Given the description of an element on the screen output the (x, y) to click on. 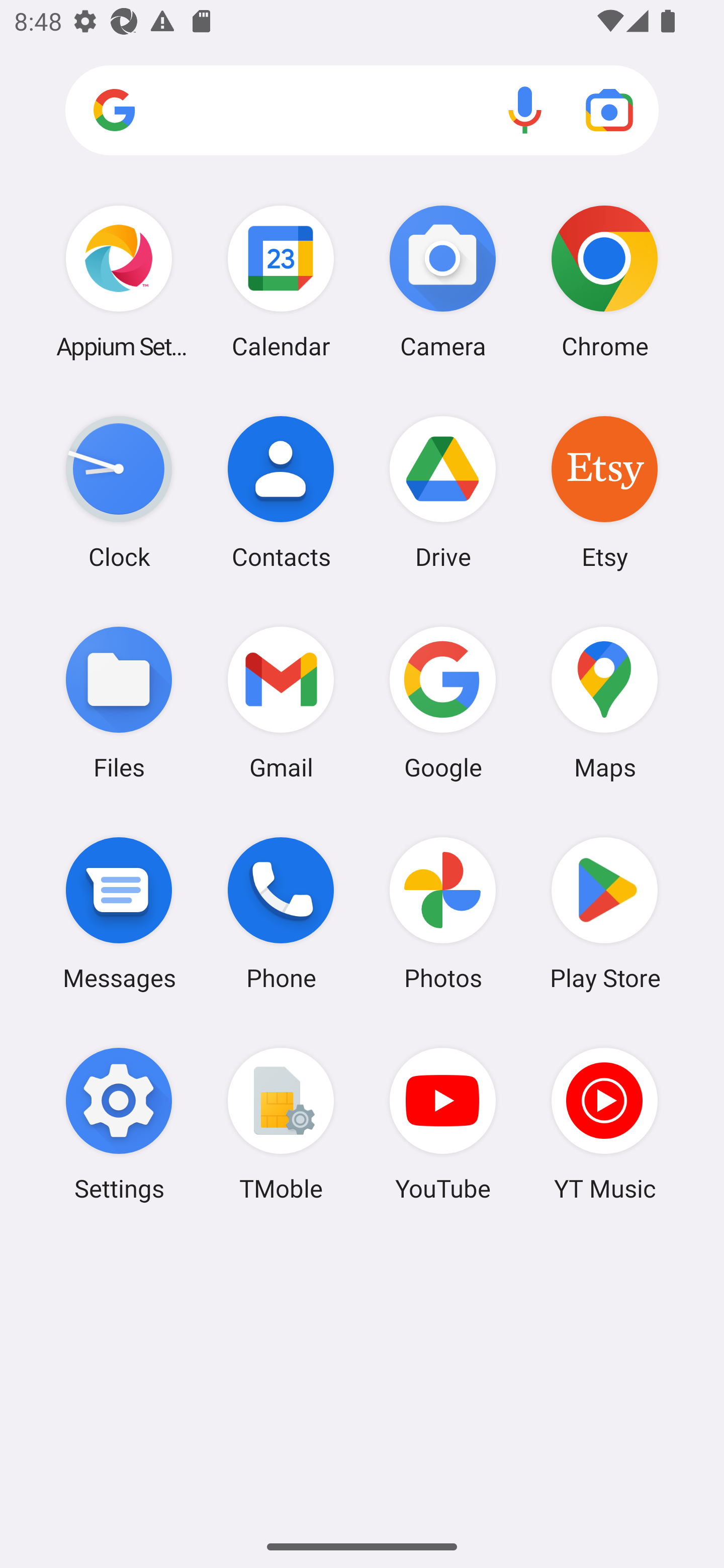
Search apps, web and more (361, 110)
Voice search (524, 109)
Google Lens (608, 109)
Appium Settings (118, 281)
Calendar (280, 281)
Camera (443, 281)
Chrome (604, 281)
Clock (118, 492)
Contacts (280, 492)
Drive (443, 492)
Etsy (604, 492)
Files (118, 702)
Gmail (280, 702)
Google (443, 702)
Maps (604, 702)
Messages (118, 913)
Phone (280, 913)
Photos (443, 913)
Play Store (604, 913)
Settings (118, 1124)
TMoble (280, 1124)
YouTube (443, 1124)
YT Music (604, 1124)
